Given the description of an element on the screen output the (x, y) to click on. 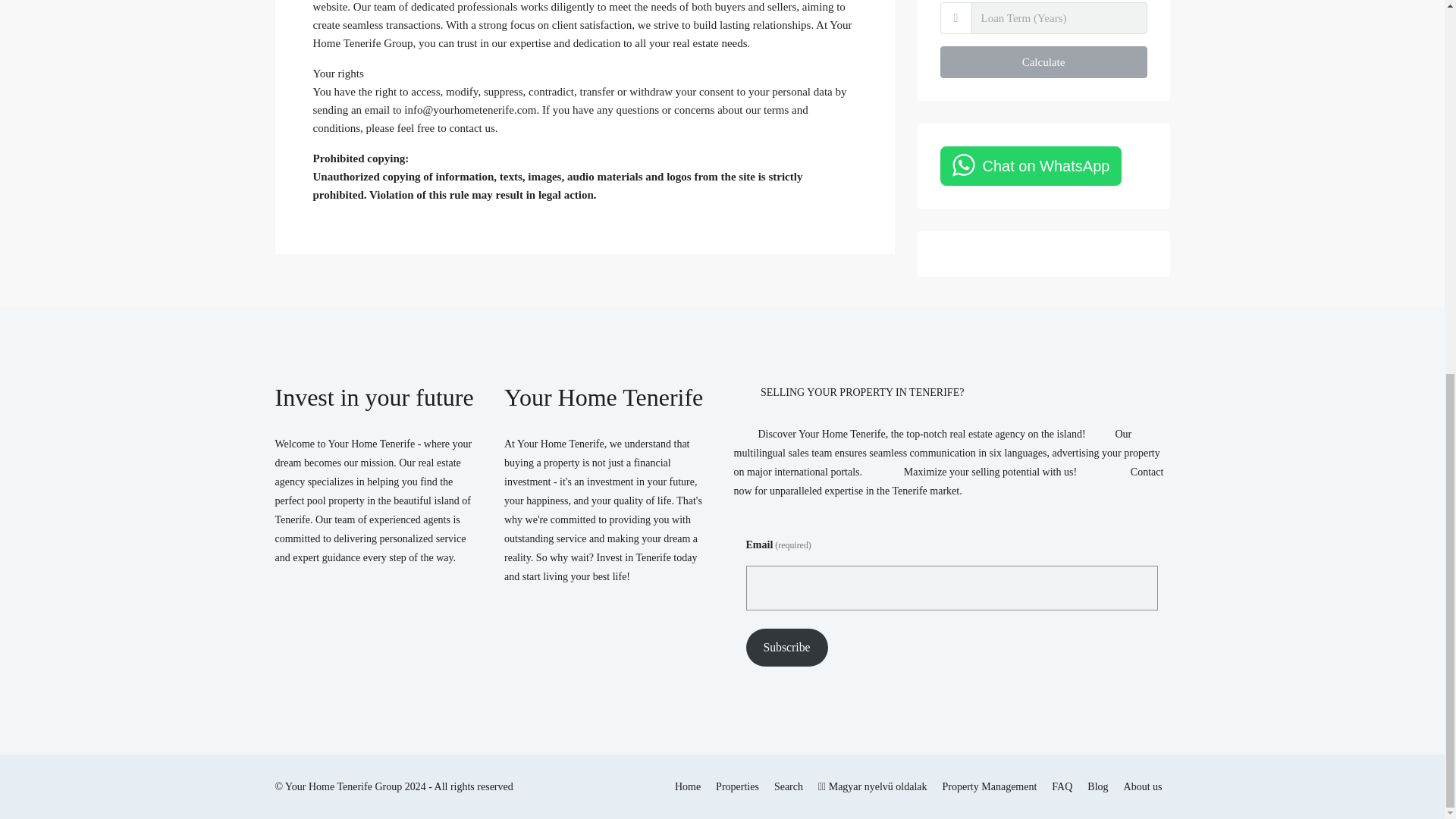
Calculate (1043, 61)
Home (687, 785)
Subscribe (786, 647)
Properties (737, 785)
Chat on WhatsApp (1031, 165)
